Given the description of an element on the screen output the (x, y) to click on. 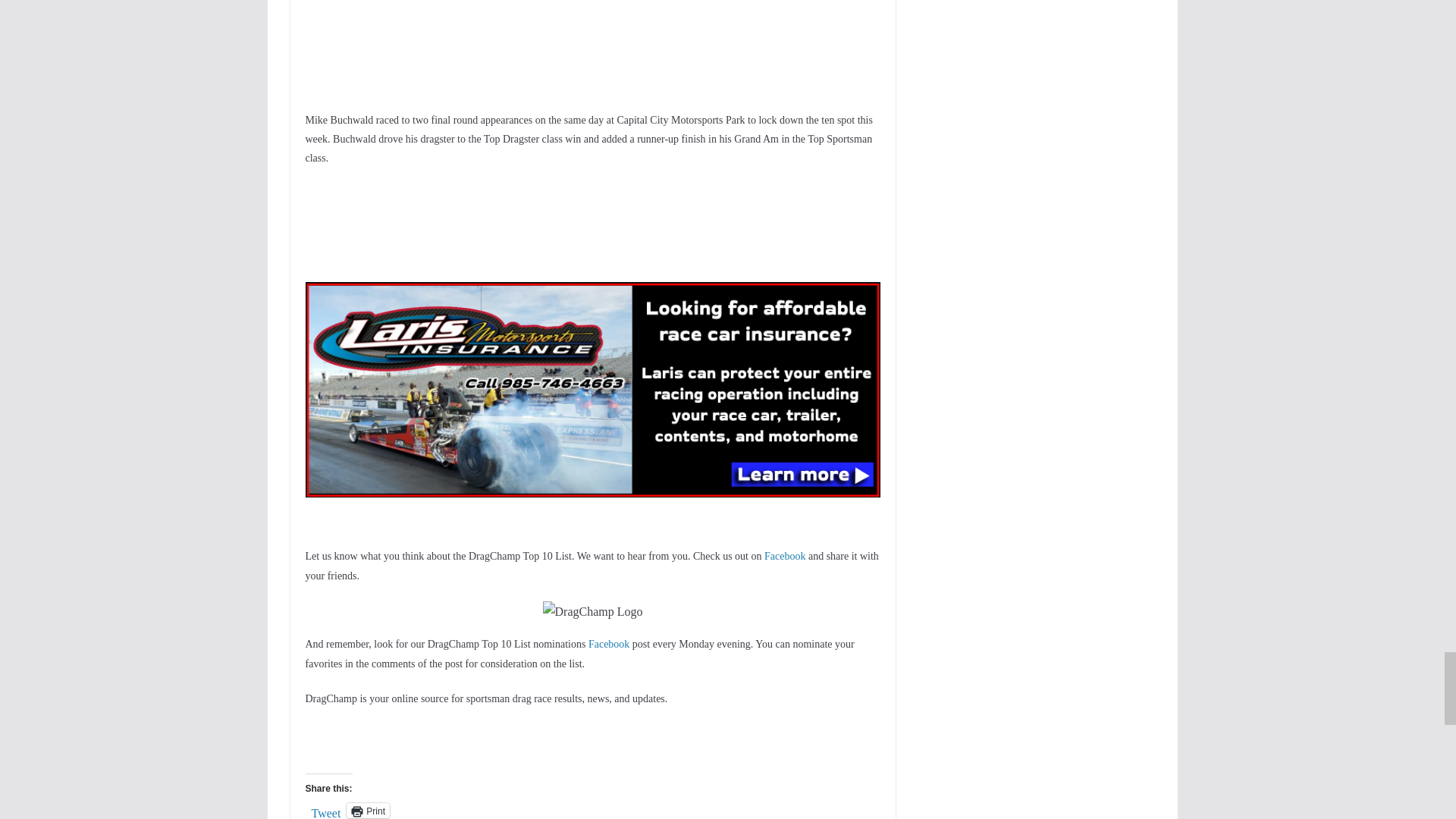
Tweet (325, 809)
Facebook (608, 644)
Facebook (784, 555)
Print (368, 810)
Click to print (368, 810)
